Given the description of an element on the screen output the (x, y) to click on. 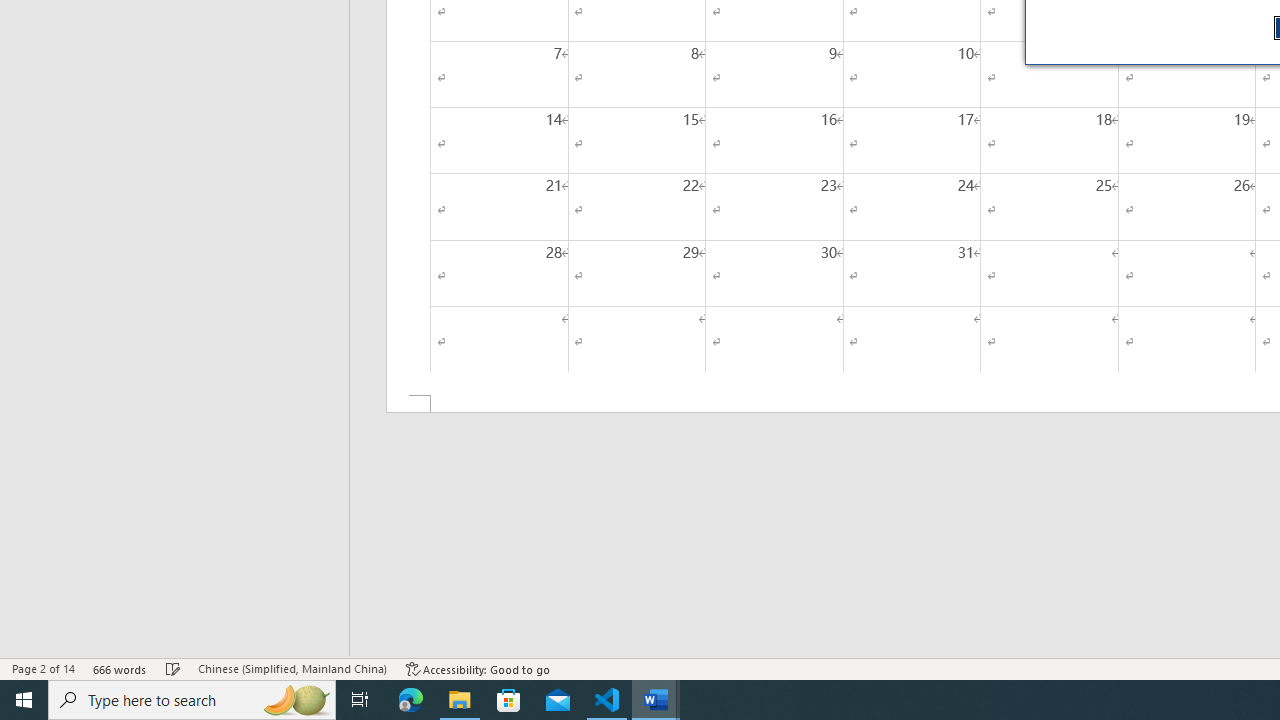
Language Chinese (Simplified, Mainland China) (292, 668)
